Given the description of an element on the screen output the (x, y) to click on. 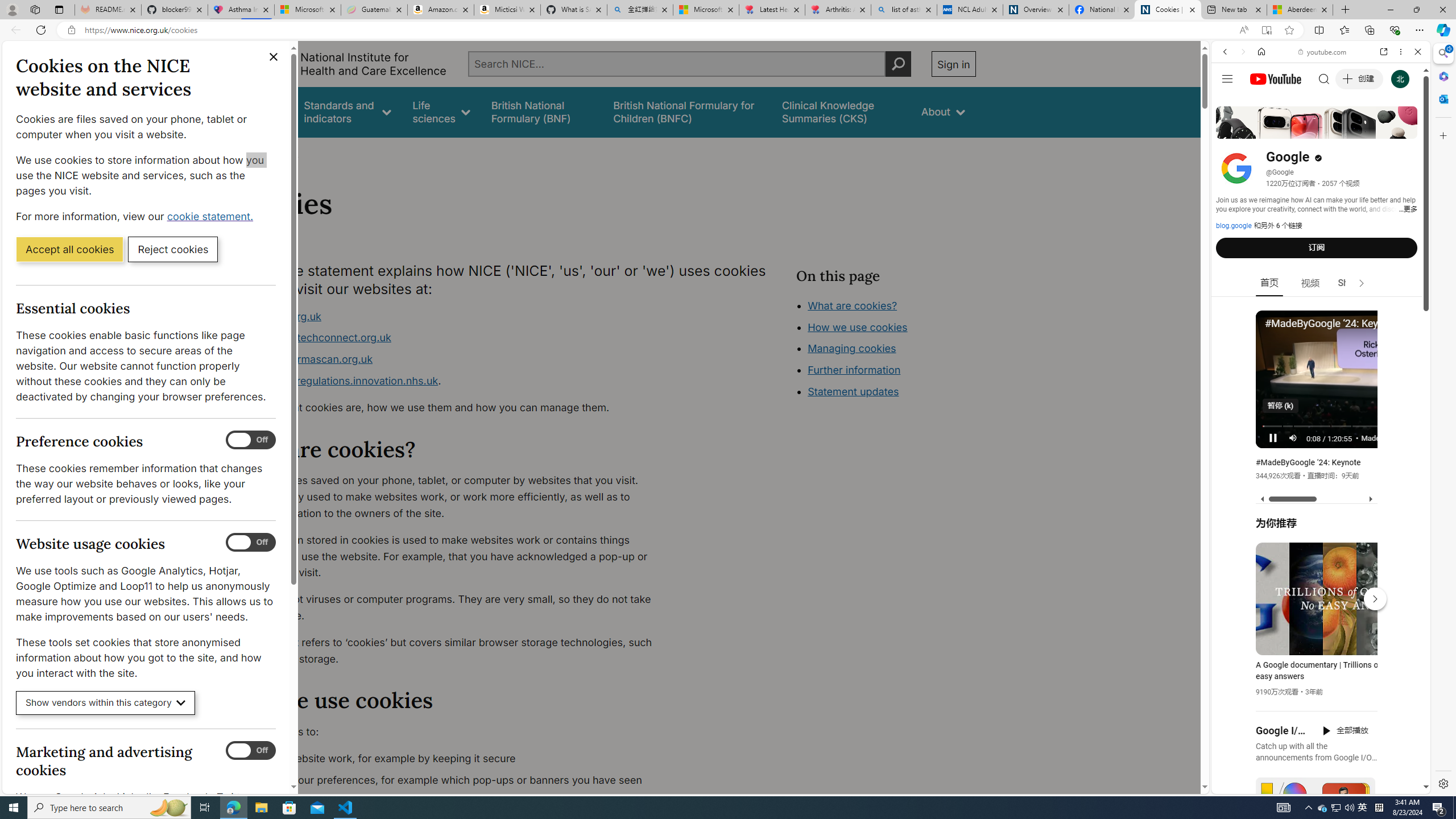
MadeByGoogle '24: Intro (1391, 437)
Show vendors within this category (105, 703)
www.ukpharmascan.org.uk (452, 359)
